Given the description of an element on the screen output the (x, y) to click on. 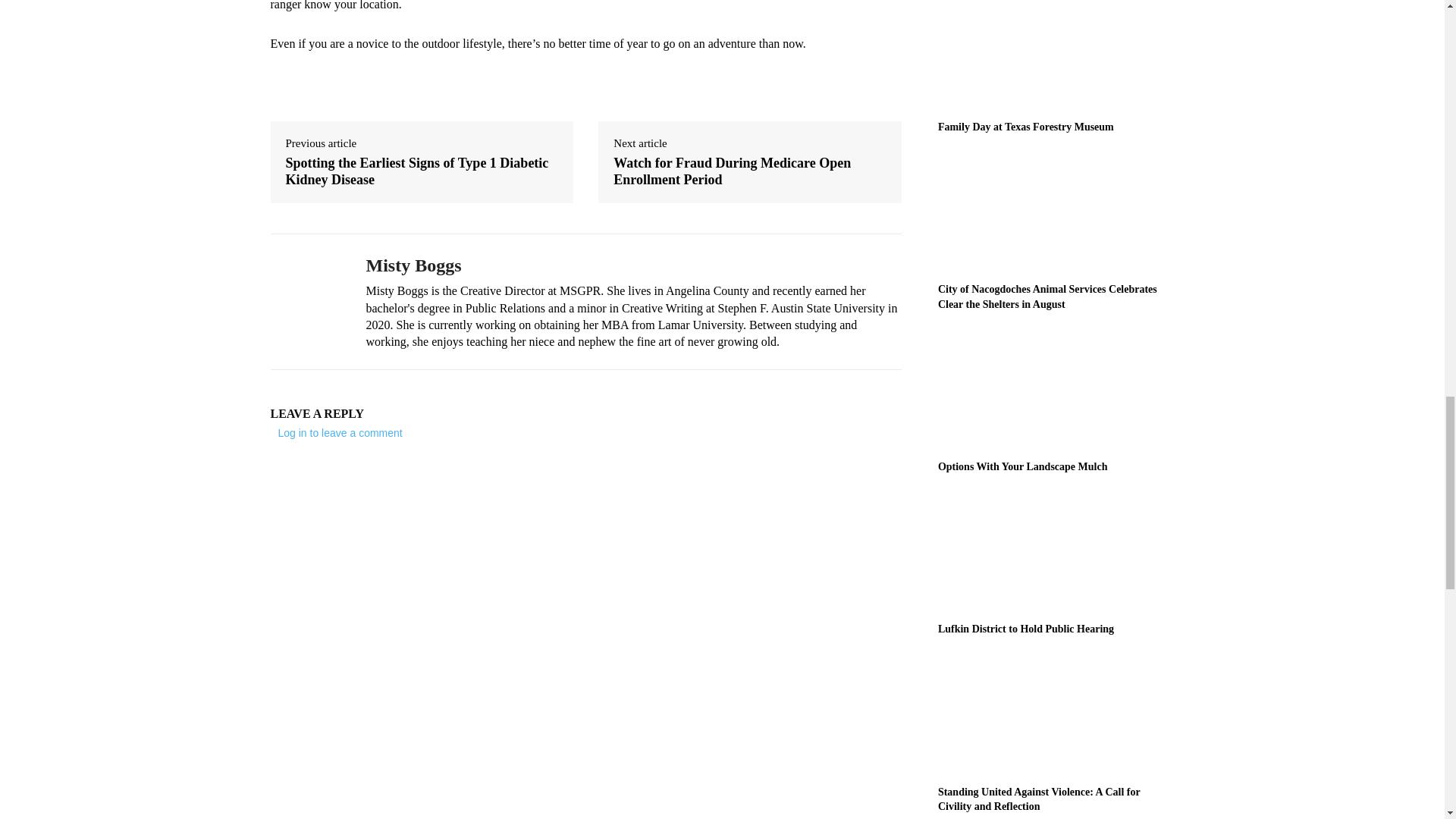
Family Day at Texas Forestry Museum (1055, 54)
Family Day at Texas Forestry Museum (1025, 126)
